Given the description of an element on the screen output the (x, y) to click on. 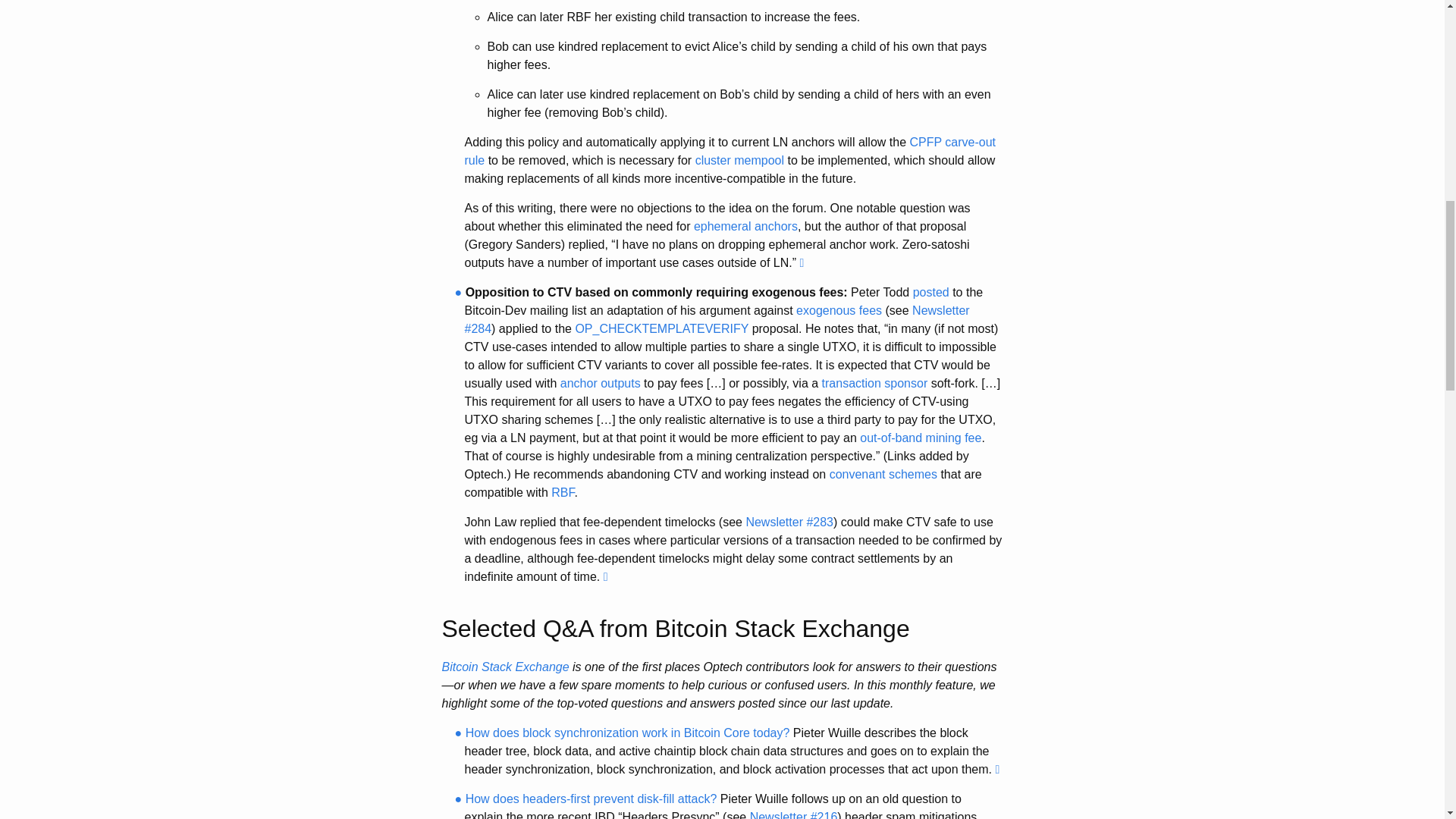
convenant schemes (883, 473)
CPFP carve-out rule (729, 151)
ephemeral anchors (745, 226)
anchor outputs (600, 382)
exogenous fees (839, 309)
RBF (562, 492)
posted (930, 291)
out-of-band mining fee (920, 437)
transaction sponsor (875, 382)
cluster mempool (739, 160)
